Given the description of an element on the screen output the (x, y) to click on. 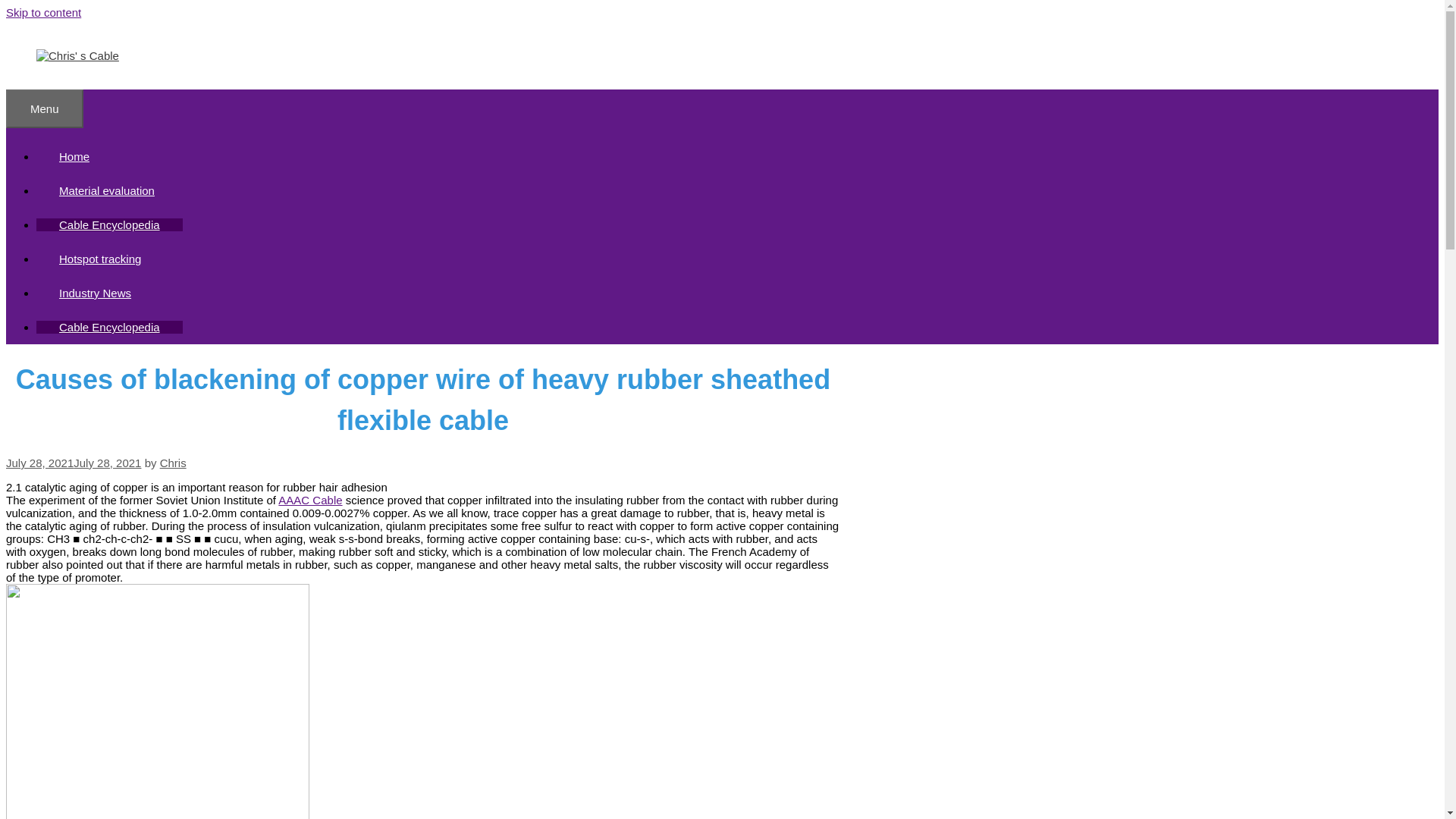
Chris (173, 462)
Skip to content (43, 11)
7:25 am (73, 462)
AAAC Cable (310, 499)
Menu (43, 108)
Industry News (95, 292)
Cable Encyclopedia (109, 224)
Home (74, 155)
July 28, 2021July 28, 2021 (73, 462)
Hotspot tracking (99, 258)
